Given the description of an element on the screen output the (x, y) to click on. 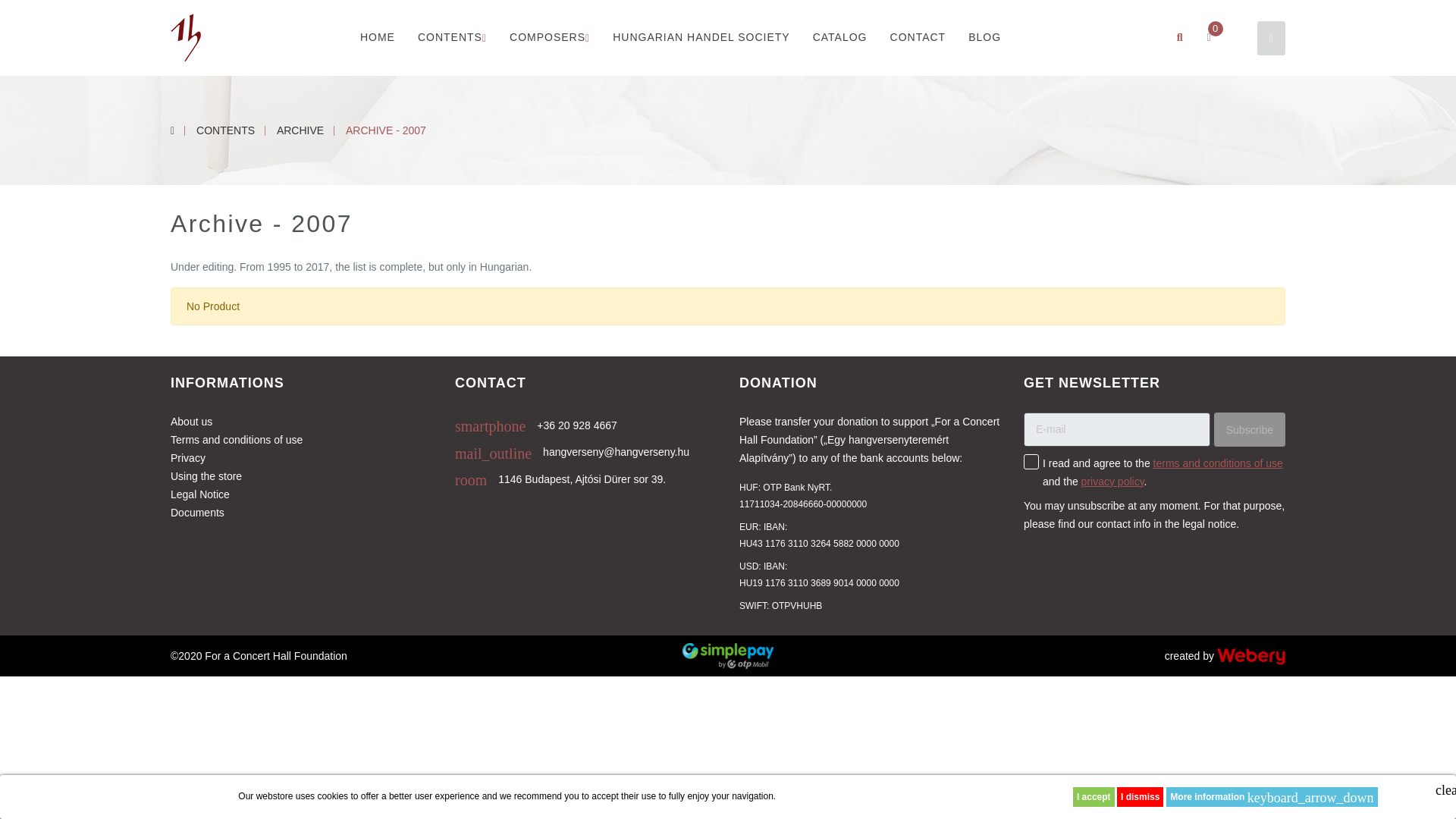
Subscribe (1249, 429)
CONTENTS (451, 37)
HOME (376, 36)
Hangverseny (185, 37)
COMPOSERS (549, 37)
